Given the description of an element on the screen output the (x, y) to click on. 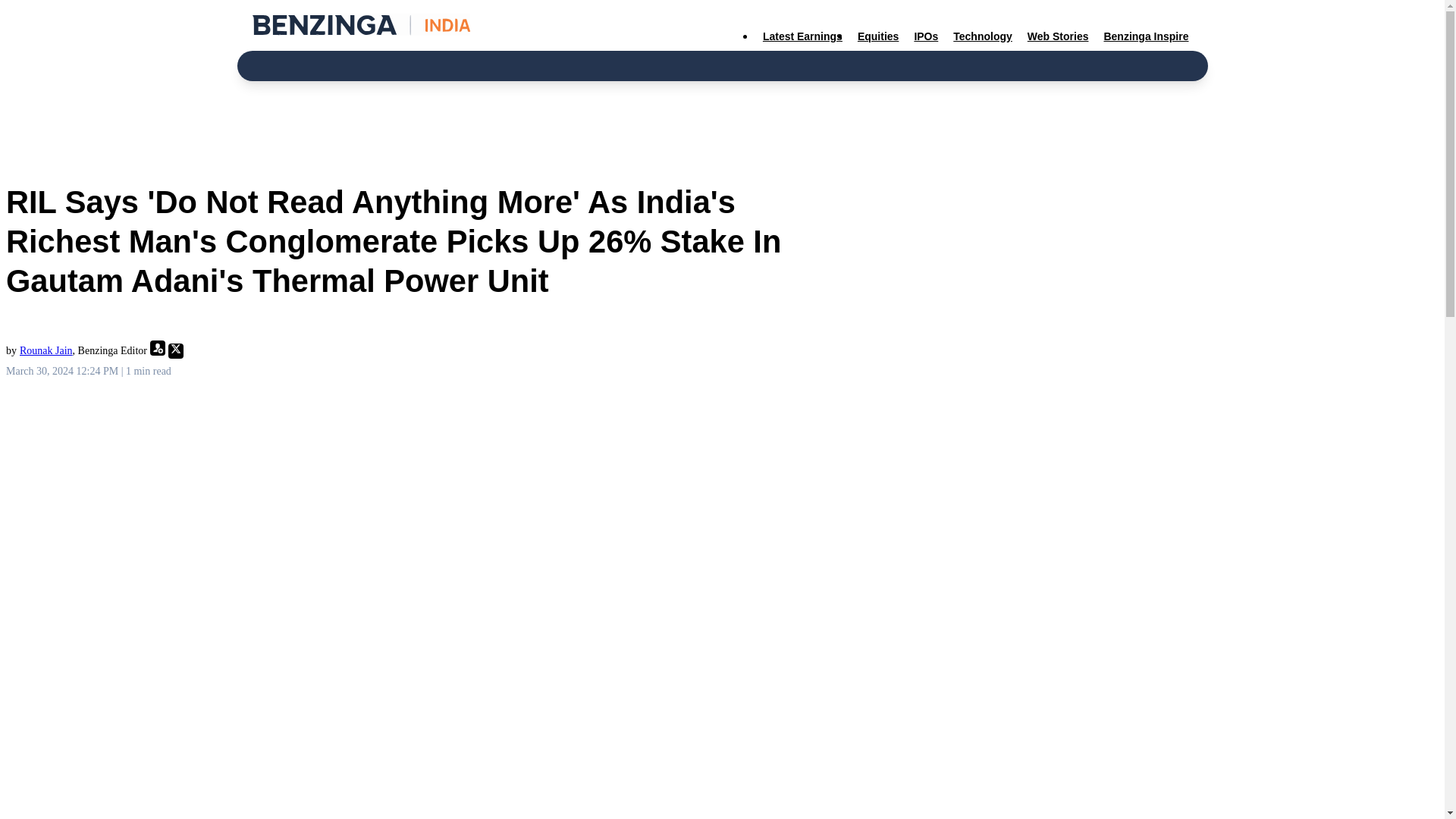
Equities (877, 36)
Web Stories (1058, 36)
Latest Earnings (802, 36)
IPOs (924, 36)
Latest Earnings (802, 36)
Web Stories (1058, 36)
Rounak Jain (46, 350)
Equities (877, 36)
Benzinga Inspire (1145, 36)
Technology (982, 36)
